Given the description of an element on the screen output the (x, y) to click on. 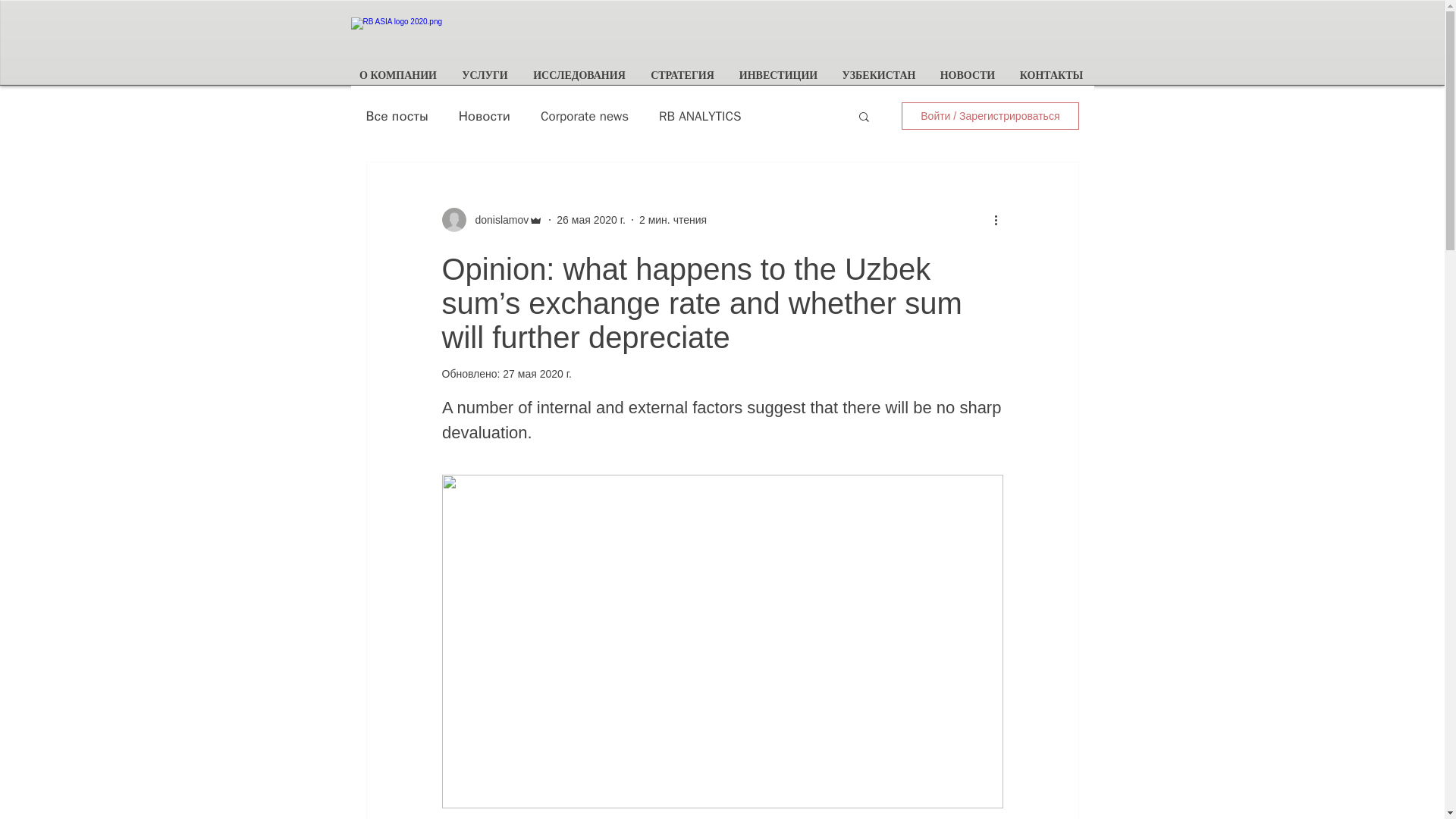
RB ANALYTICS (700, 116)
Corporate news (584, 116)
donislamov (496, 220)
